Given the description of an element on the screen output the (x, y) to click on. 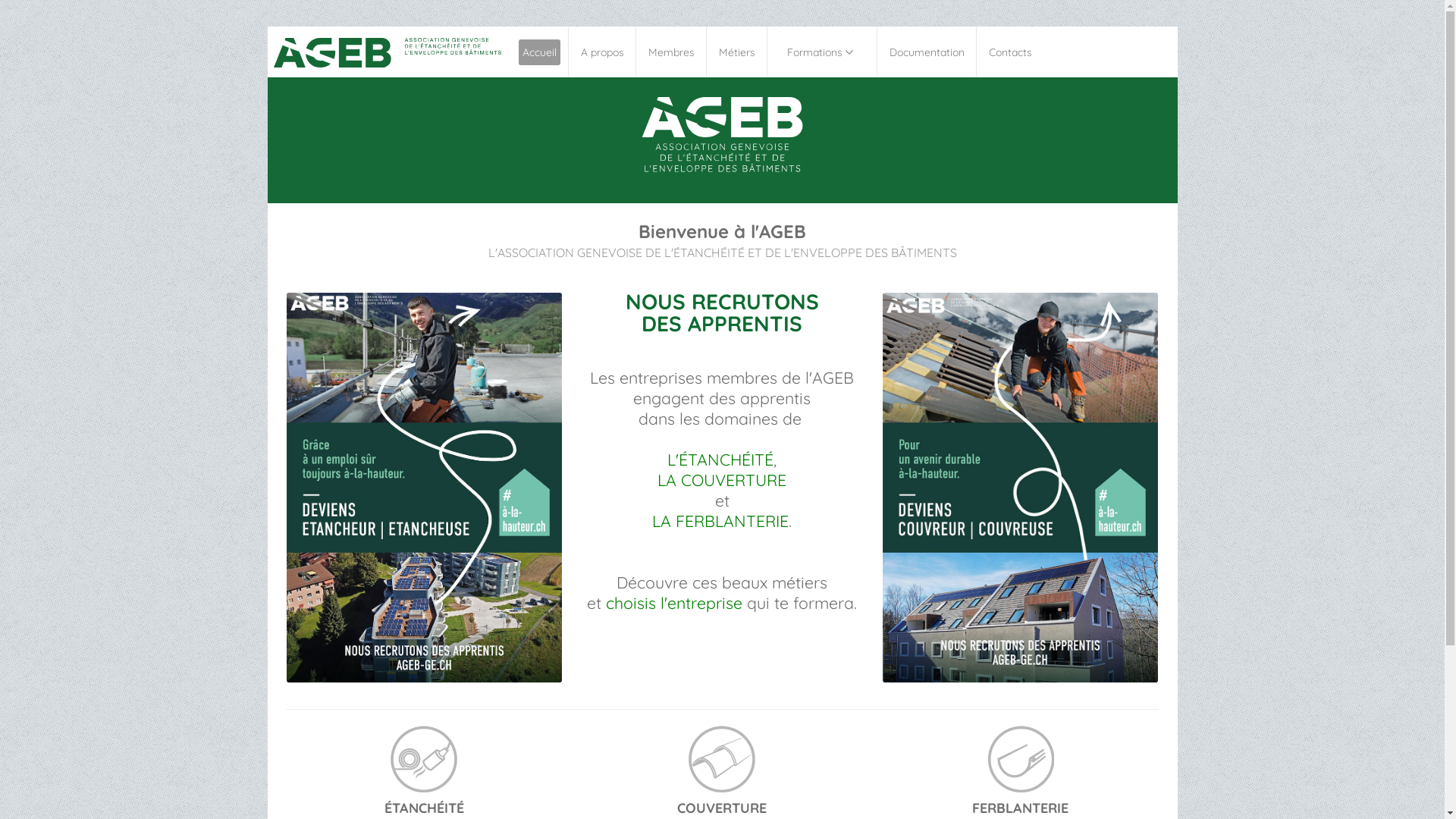
Formations Element type: text (821, 51)
A propos Element type: text (601, 51)
Contacts Element type: text (1009, 51)
LA FERBLANTERIE Element type: text (720, 520)
Documentation Element type: text (926, 51)
Accueil Element type: text (539, 51)
choisis l'entreprise Element type: text (673, 602)
Membres Element type: text (671, 51)
LA COUVERTURE Element type: text (721, 479)
